Given the description of an element on the screen output the (x, y) to click on. 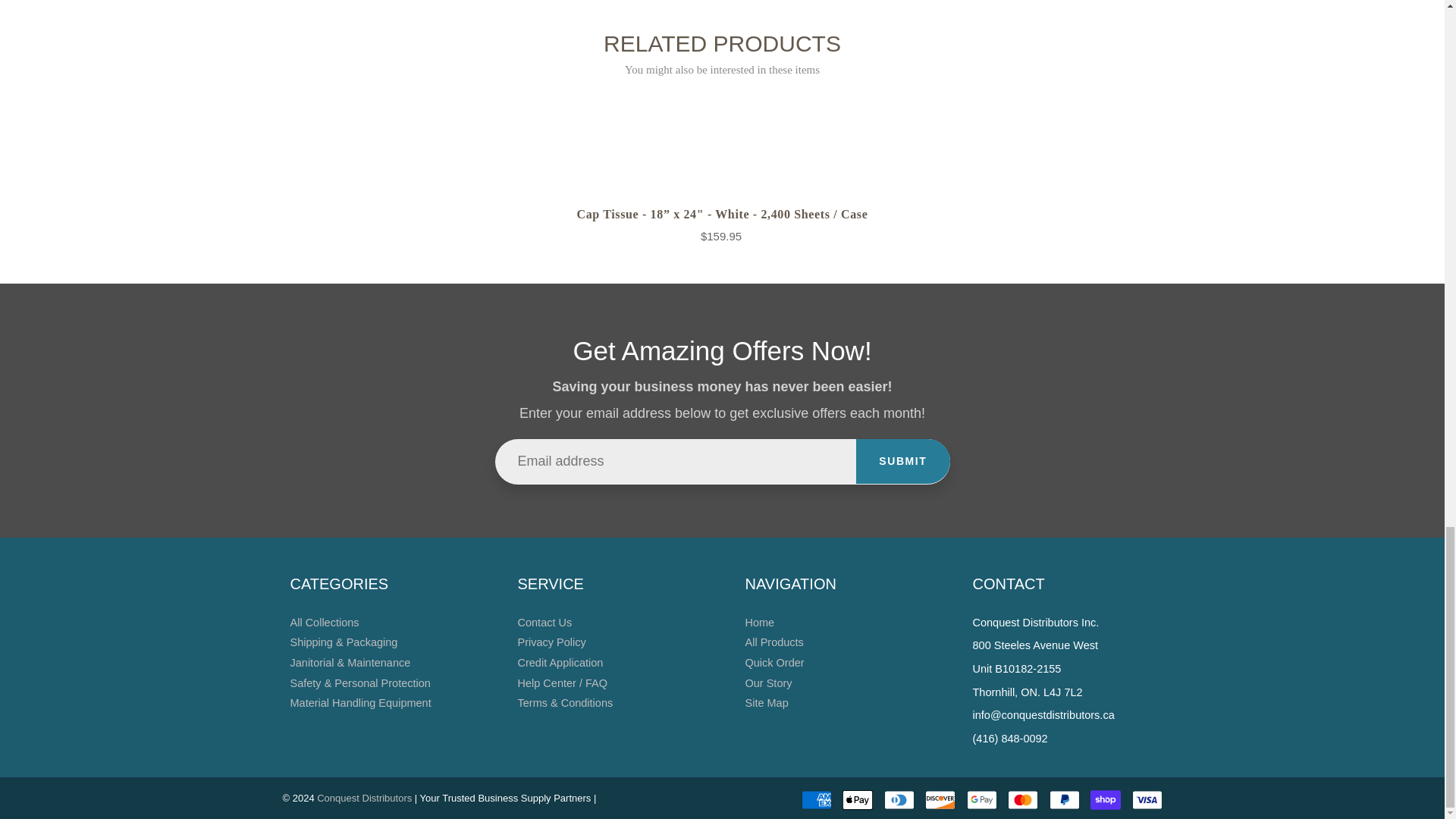
Discover (939, 799)
Mastercard (1022, 799)
PayPal (1064, 799)
Diners Club (898, 799)
Apple Pay (857, 799)
Shop Pay (1105, 799)
American Express (816, 799)
Google Pay (981, 799)
Visa (1146, 799)
